Given the description of an element on the screen output the (x, y) to click on. 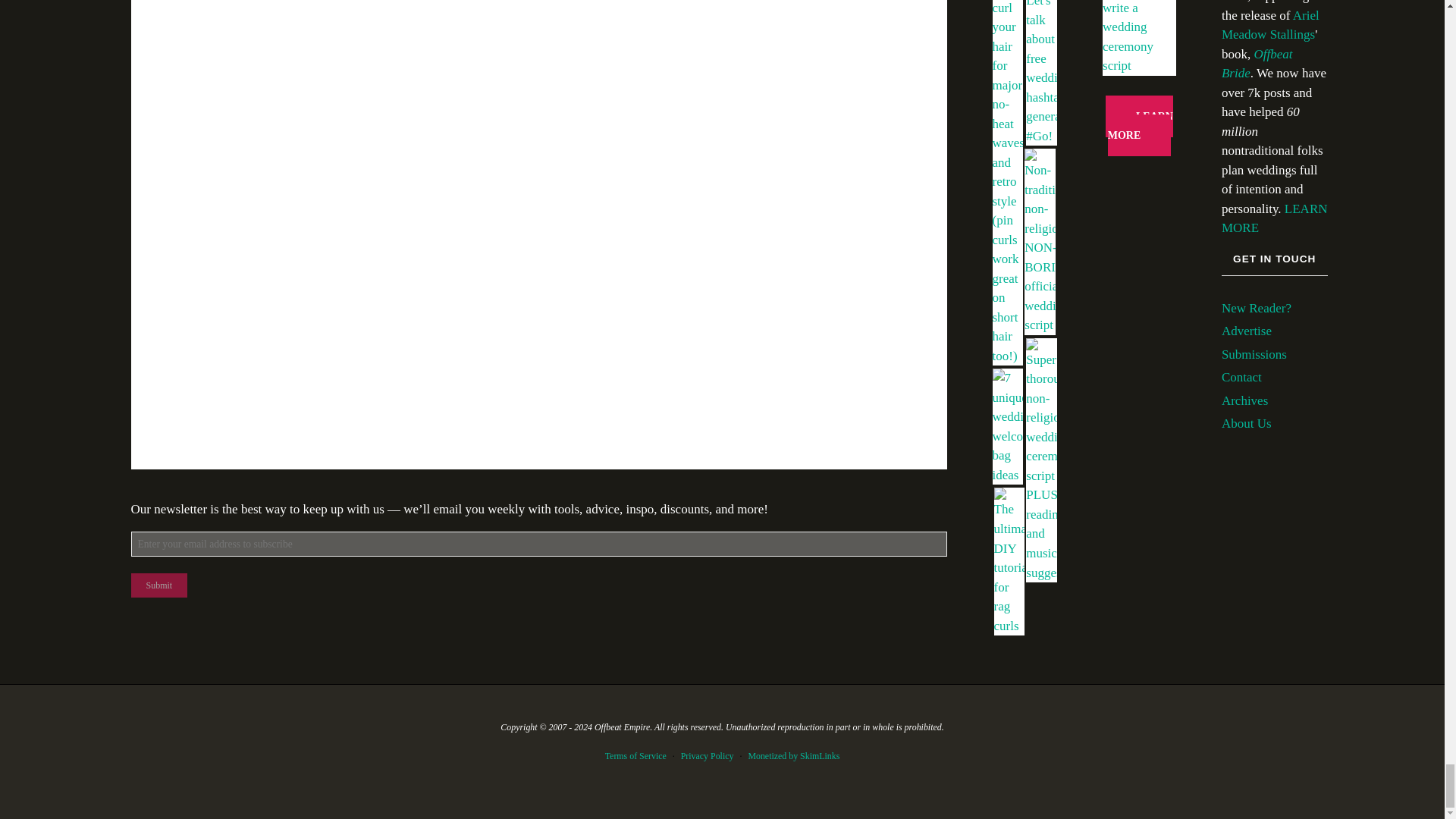
Submit (159, 585)
